Given the description of an element on the screen output the (x, y) to click on. 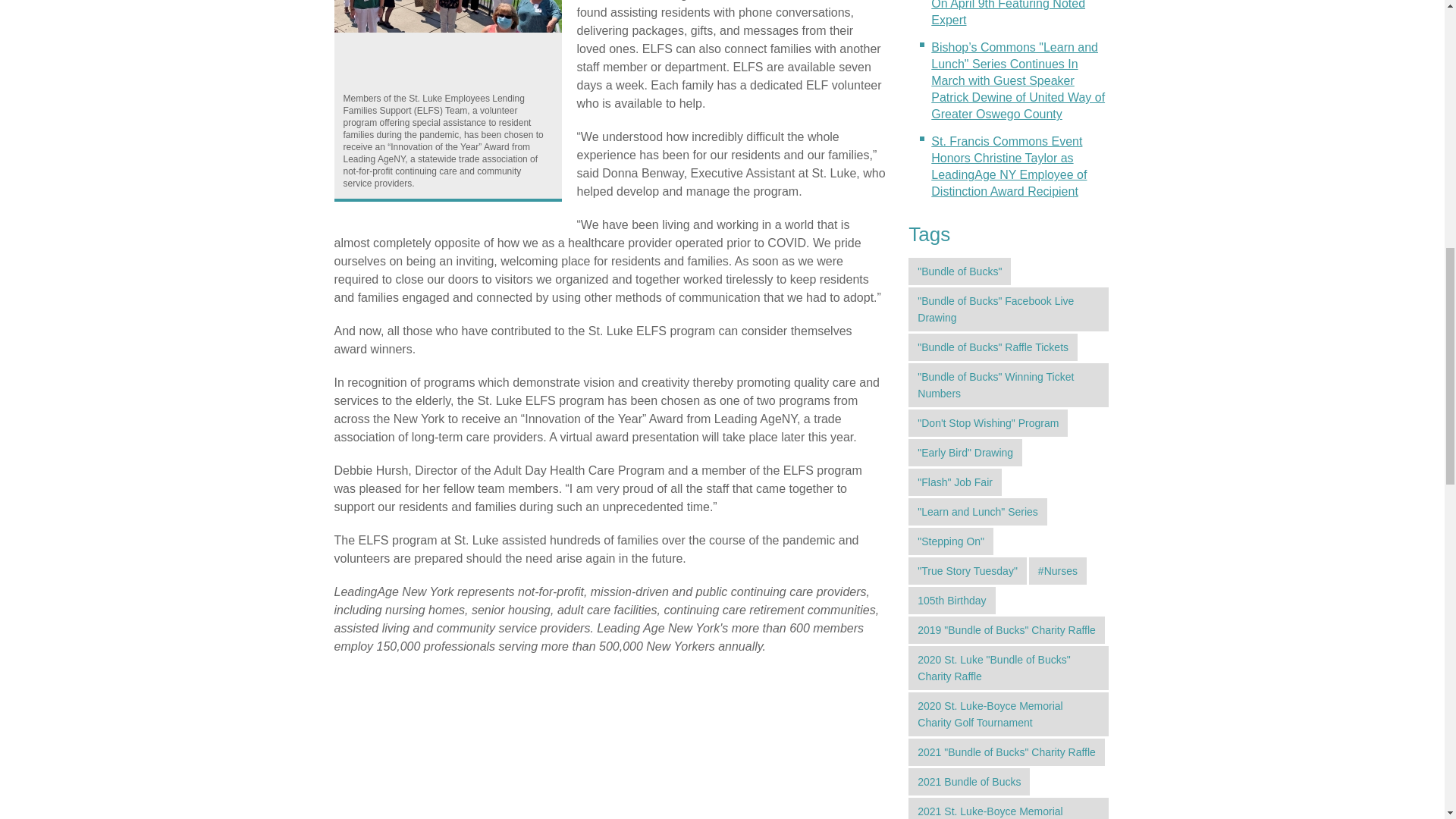
"Bundle of Bucks" Winning Ticket Numbers (1008, 385)
"Bundle of Bucks" (959, 271)
"Bundle of Bucks" Raffle Tickets (992, 347)
"Don't Stop Wishing" Program (987, 422)
"Bundle of Bucks" Facebook Live Drawing (1008, 309)
"Early Bird" Drawing (965, 452)
